Given the description of an element on the screen output the (x, y) to click on. 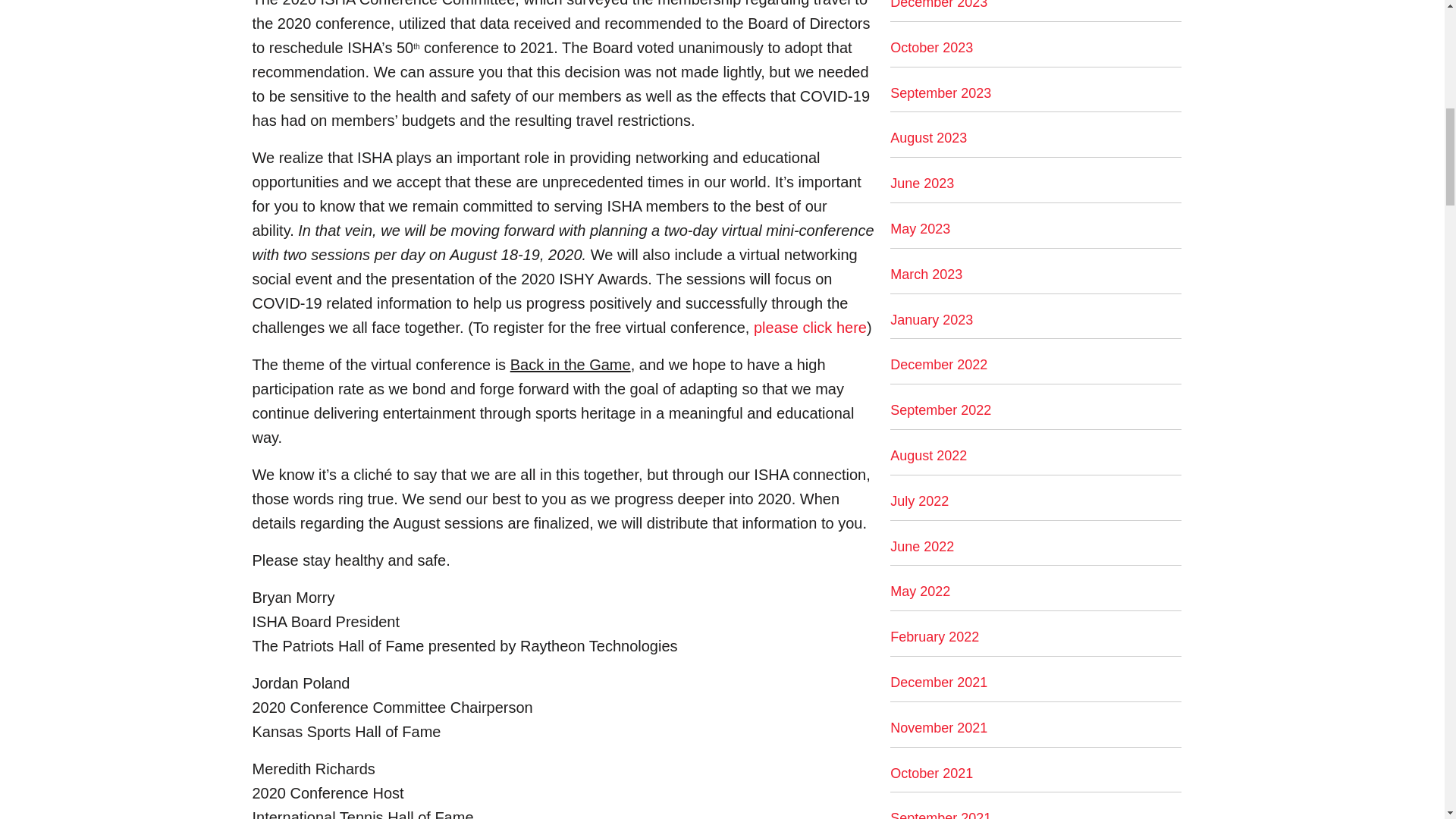
please click here (810, 327)
October 2023 (930, 47)
March 2023 (925, 273)
December 2023 (938, 4)
September 2023 (940, 92)
August 2023 (927, 137)
May 2023 (919, 228)
June 2023 (921, 183)
